Given the description of an element on the screen output the (x, y) to click on. 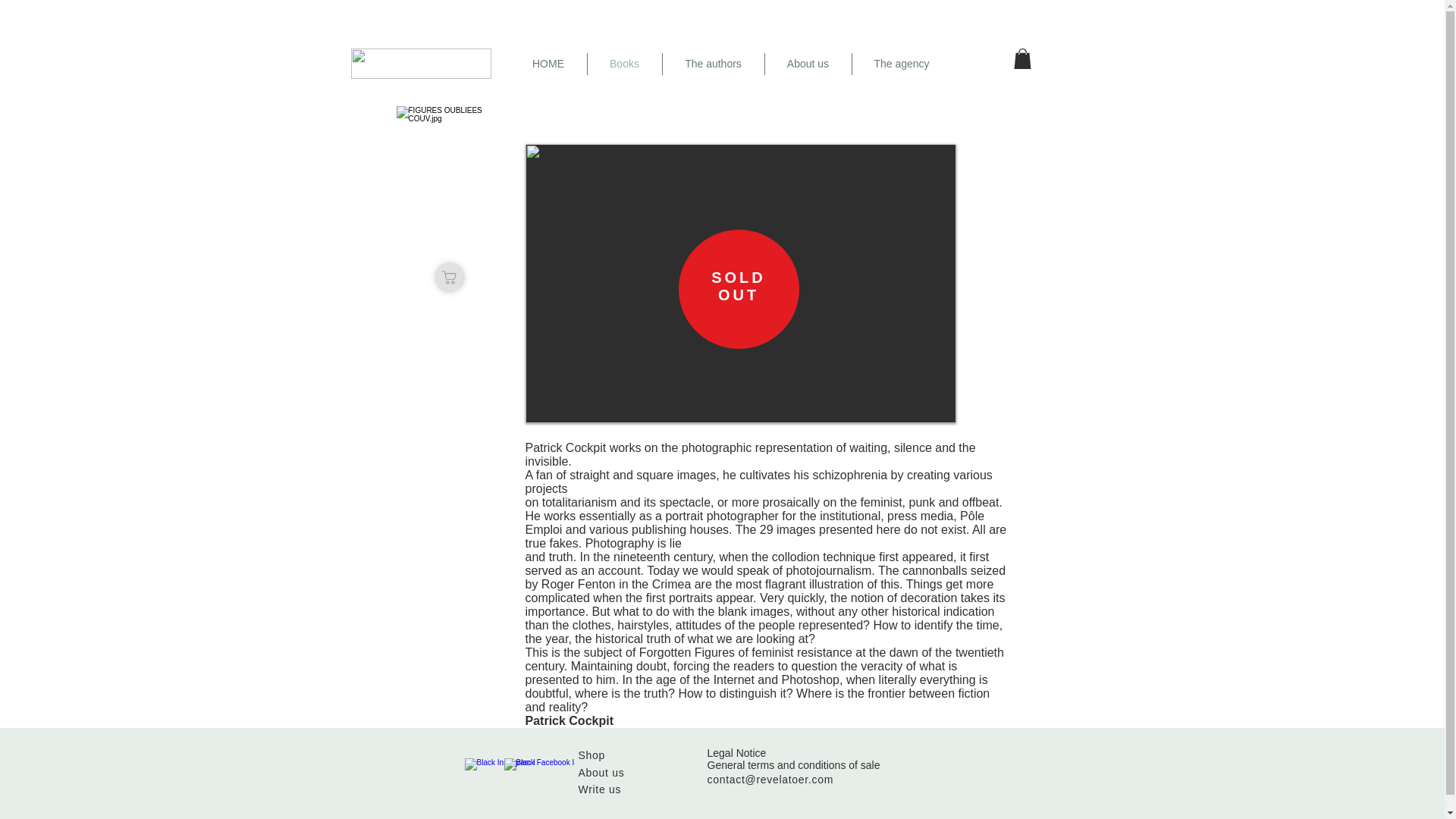
The agency (901, 64)
Legal Notice (735, 752)
The authors (713, 64)
About us (807, 64)
Books (623, 64)
Patrick Cockpit (568, 720)
About us (601, 772)
HOME (547, 64)
Write us (599, 788)
General terms and conditions of sale (792, 765)
Shop (591, 755)
